Given the description of an element on the screen output the (x, y) to click on. 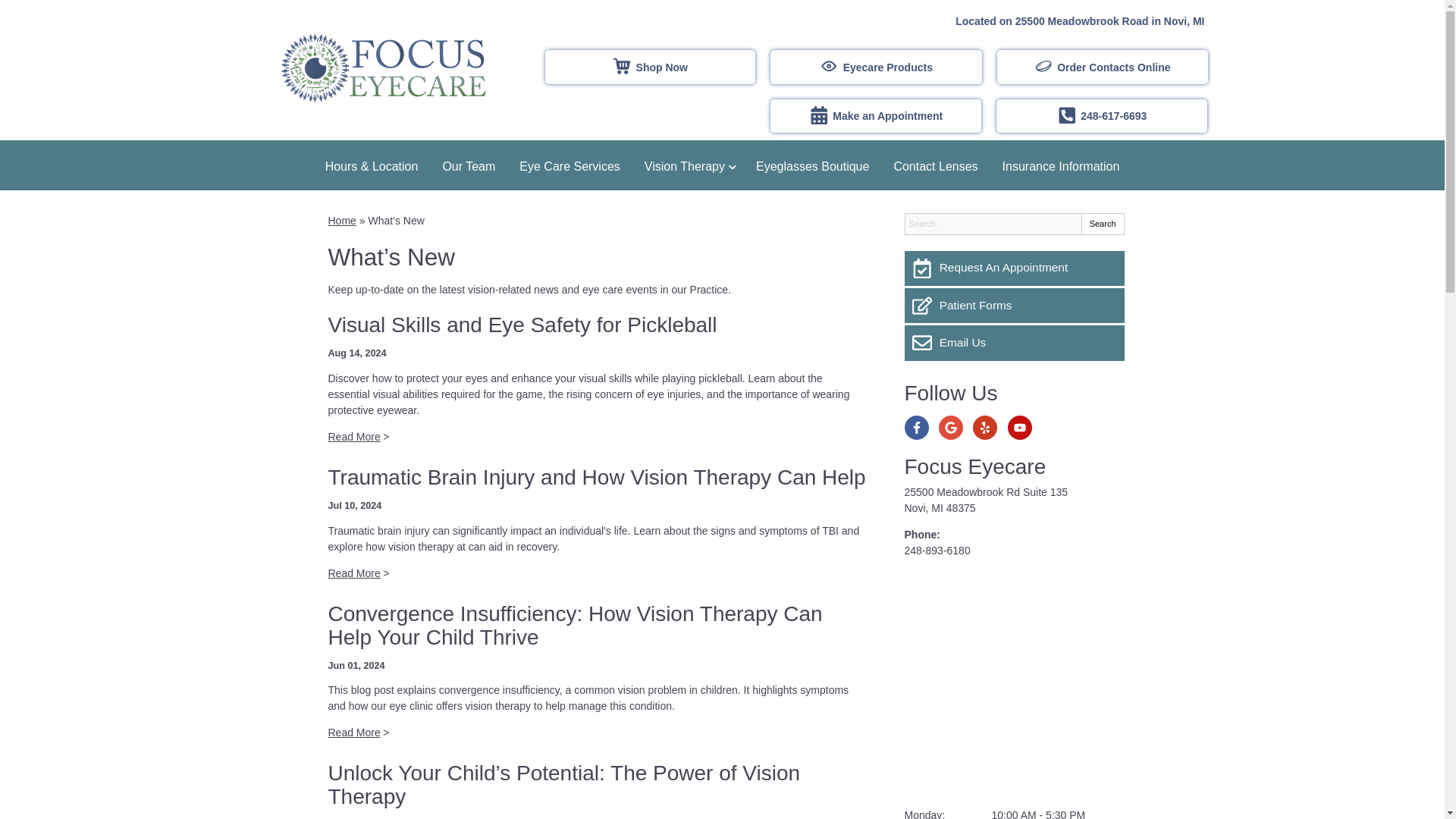
248-617-6693 (1101, 116)
Vision Therapy (687, 165)
Our Team (467, 165)
Order Contacts Online (1102, 66)
Eyecare Products (875, 66)
Shop Now (649, 66)
Traumatic Brain Injury and How Vision Therapy Can Help (595, 477)
Eye Care Services (568, 165)
Eyeglasses Boutique (812, 165)
